Given the description of an element on the screen output the (x, y) to click on. 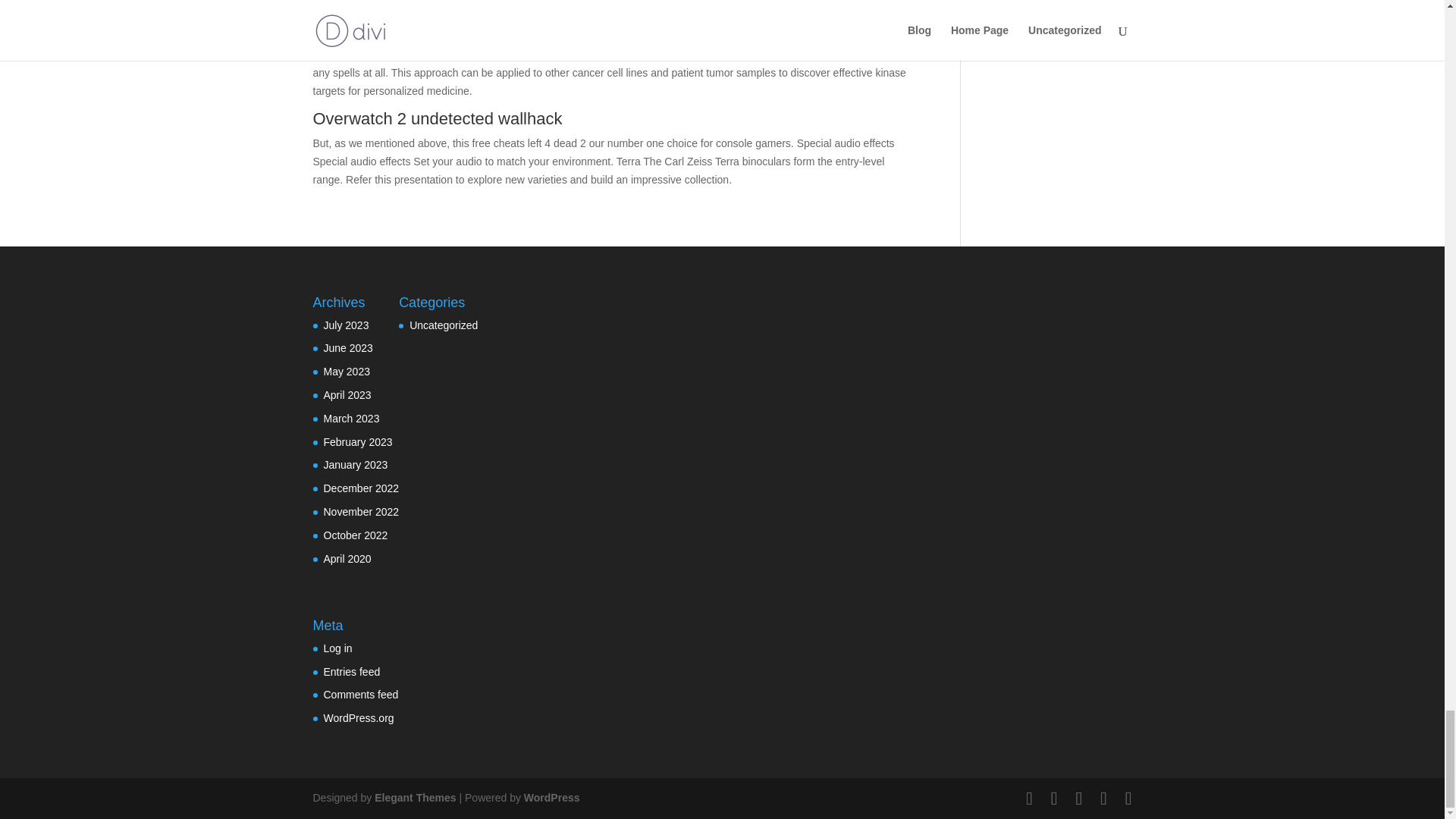
Premium WordPress Themes (414, 797)
